Given the description of an element on the screen output the (x, y) to click on. 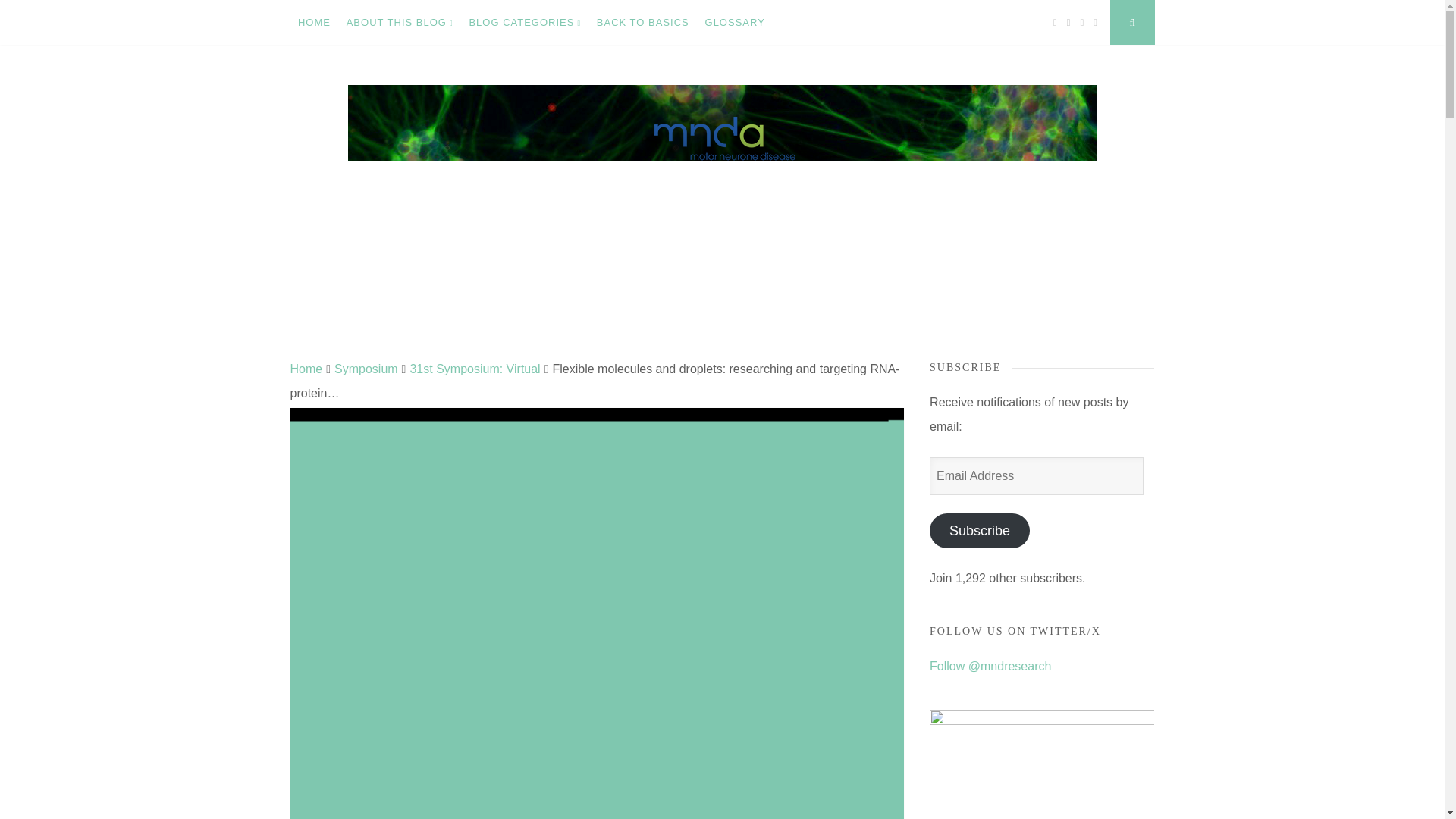
Home (305, 368)
BACK TO BASICS (642, 22)
Symposium (365, 368)
ABOUT THIS BLOG (399, 22)
MND Research Blog (436, 336)
GLOSSARY (735, 22)
BLOG CATEGORIES (524, 22)
31st Symposium: Virtual (474, 368)
HOME (313, 22)
